Given the description of an element on the screen output the (x, y) to click on. 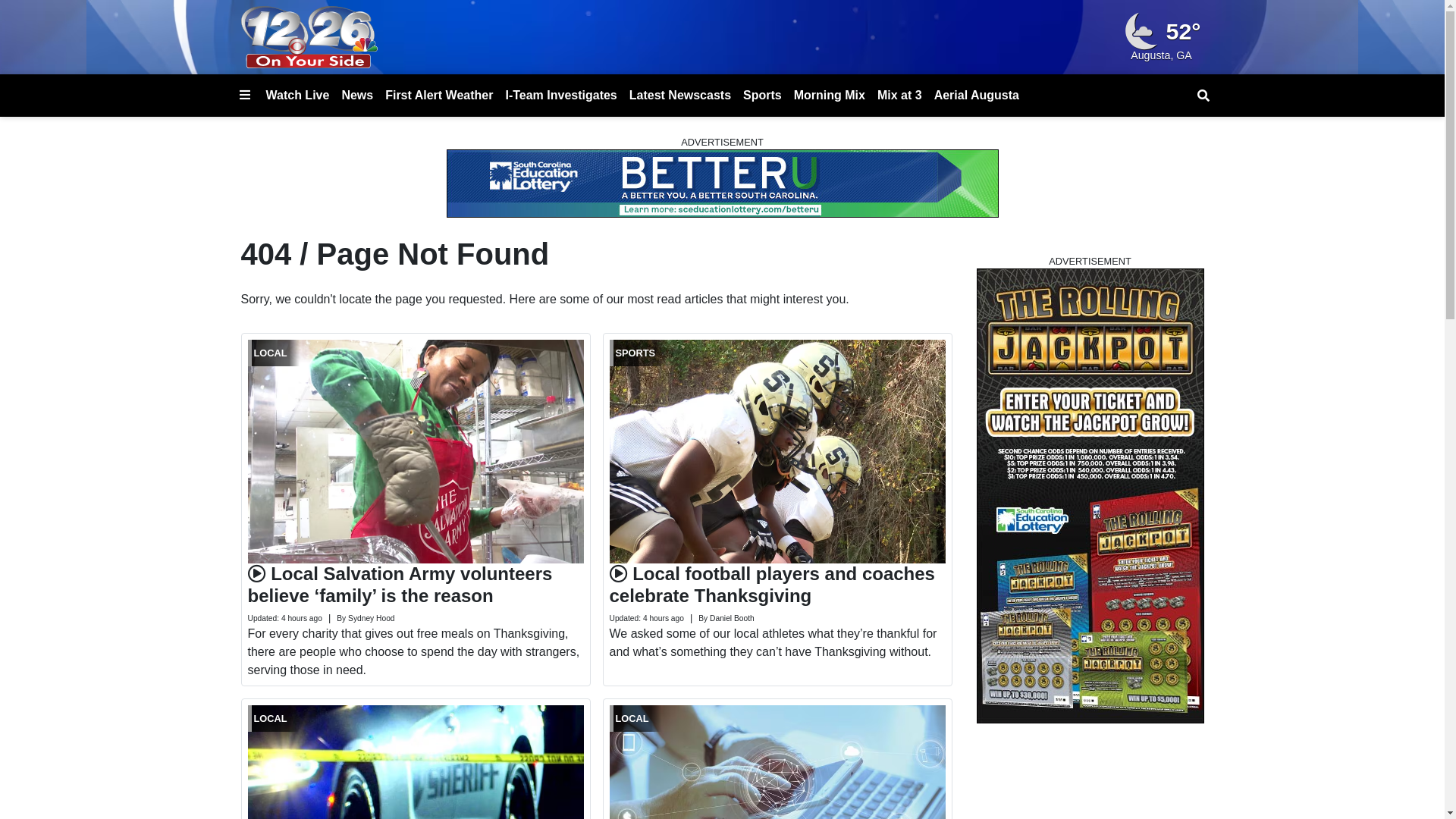
News Element type: text (357, 95)
Sports Element type: text (762, 95)
3rd party ad content Element type: hover (721, 183)
Local football players and coaches celebrate Thanksgiving Element type: text (772, 584)
I-Team Investigates Element type: text (560, 95)
Latest Newscasts Element type: text (680, 95)
3rd party ad content Element type: hover (1090, 495)
Watch Live Element type: text (297, 95)
Mix at 3 Element type: text (899, 95)
Aerial Augusta Element type: text (976, 95)
First Alert Weather Element type: text (438, 95)
Morning Mix Element type: text (829, 95)
